Given the description of an element on the screen output the (x, y) to click on. 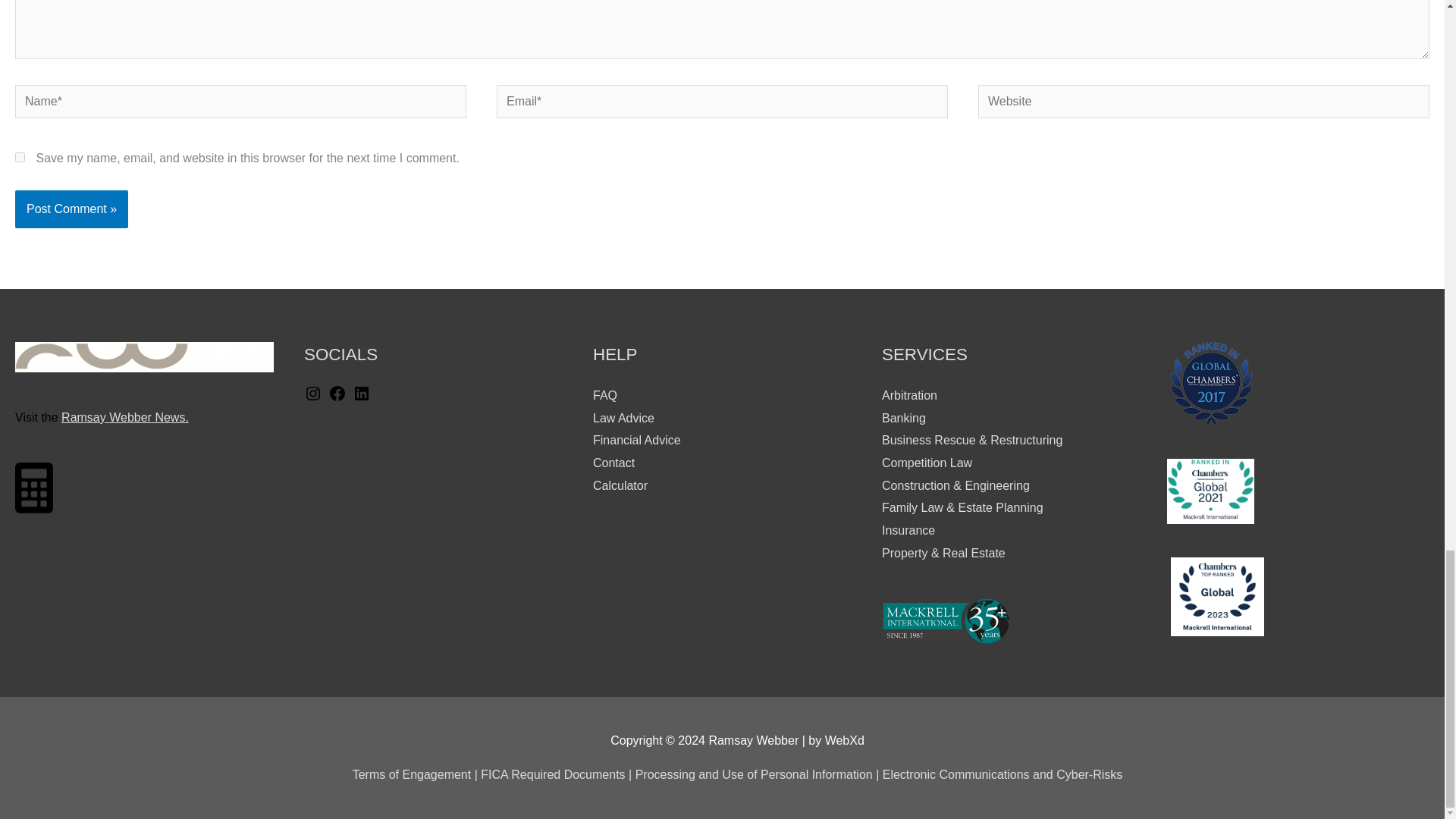
LinkedIn (361, 398)
Ramsay Webber News. (125, 417)
Facebook (337, 398)
Instagram (312, 398)
Banking (904, 418)
Competition Law (927, 462)
Arbitration (909, 395)
Financial Advice (636, 440)
Contact (613, 462)
FAQ (604, 395)
